Given the description of an element on the screen output the (x, y) to click on. 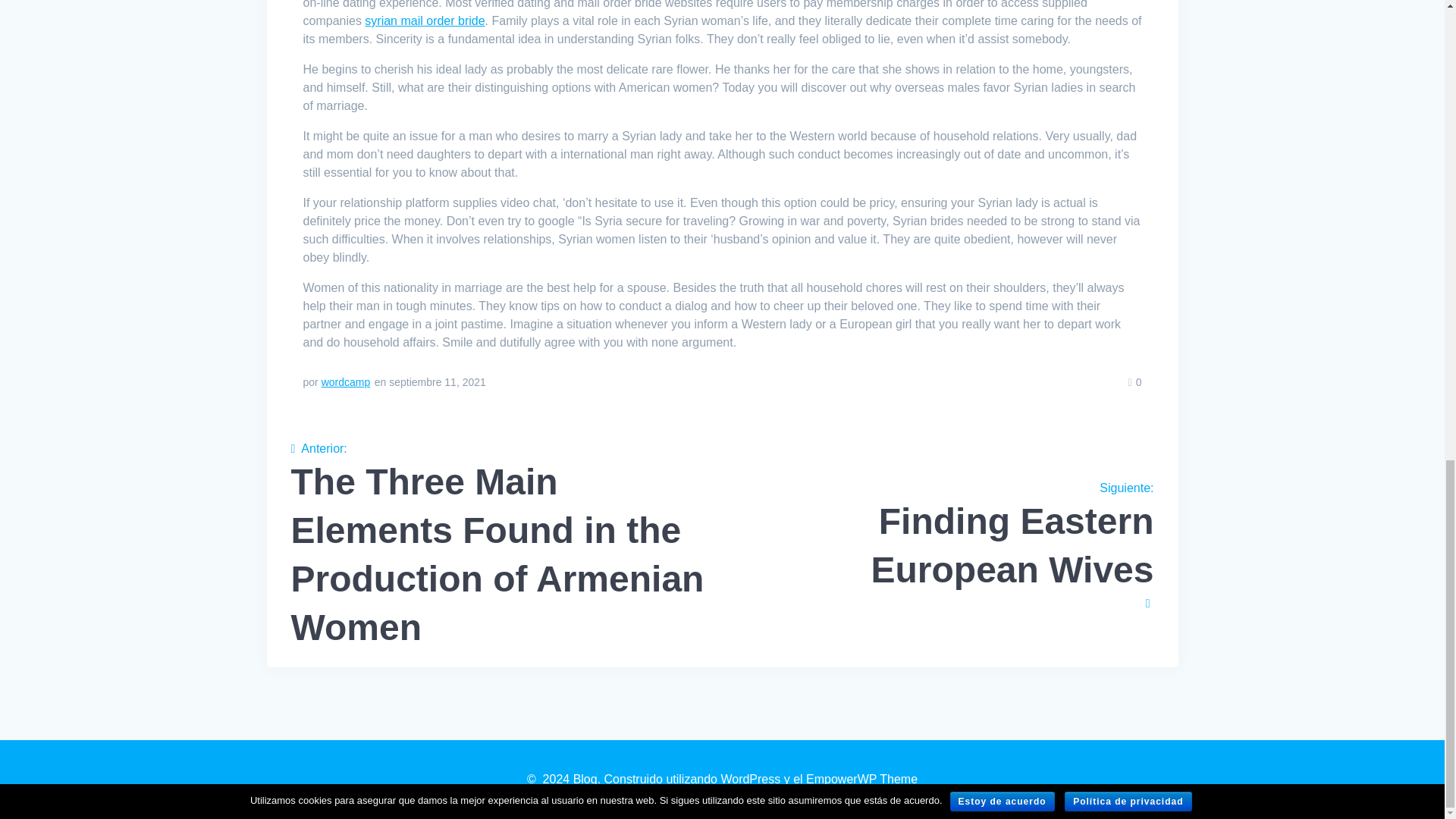
wordcamp (346, 381)
syrian mail order bride (424, 20)
EmpowerWP Theme (861, 779)
Entradas de wordcamp (943, 545)
